Given the description of an element on the screen output the (x, y) to click on. 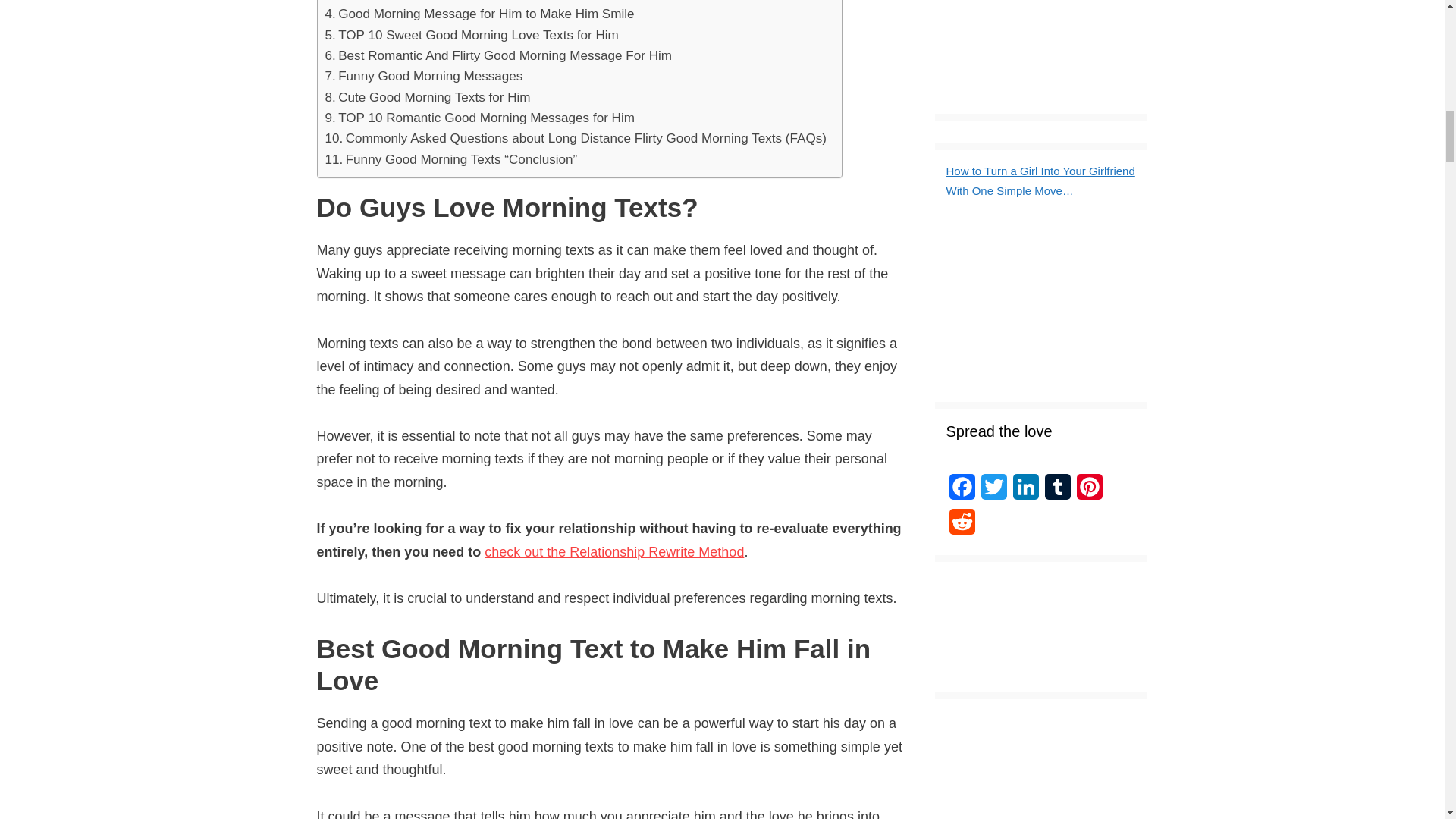
Funny Good Morning Messages (423, 76)
TOP 10 Sweet Good Morning Love Texts for Him (470, 35)
Best Romantic And Flirty Good Morning Message For Him (497, 55)
Good Morning Message for Him to Make Him Smile (478, 14)
Cute Good Morning Texts for Him (426, 96)
7 Types of Love Messages to Keep the Romance Alive (488, 2)
